Given the description of an element on the screen output the (x, y) to click on. 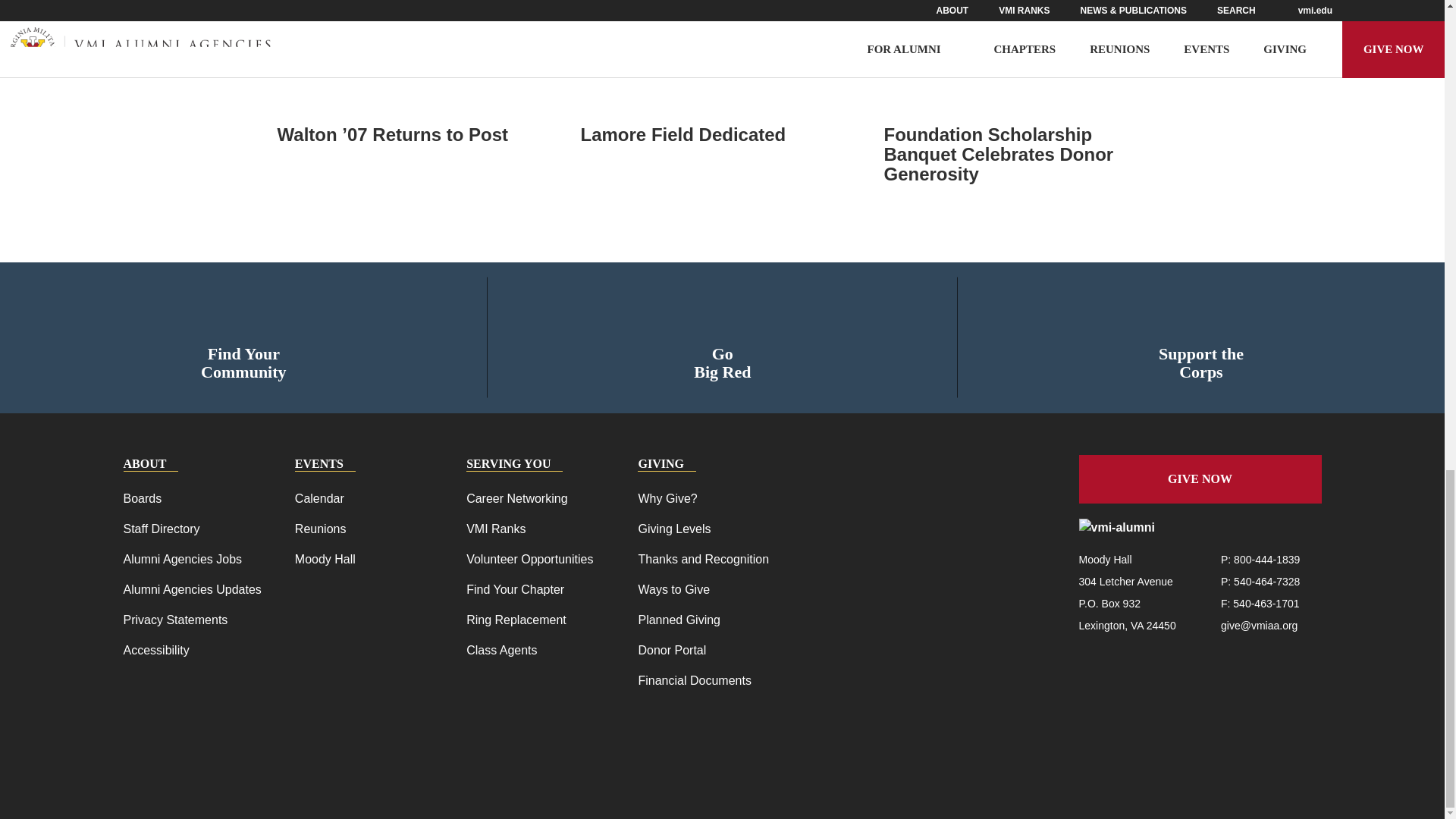
Lamore Field Dedicated (722, 134)
linkedin (1272, 661)
twitter (1211, 661)
vmi-building (1200, 316)
facebook (1181, 661)
instagram (1241, 661)
youtube (1302, 661)
